Given the description of an element on the screen output the (x, y) to click on. 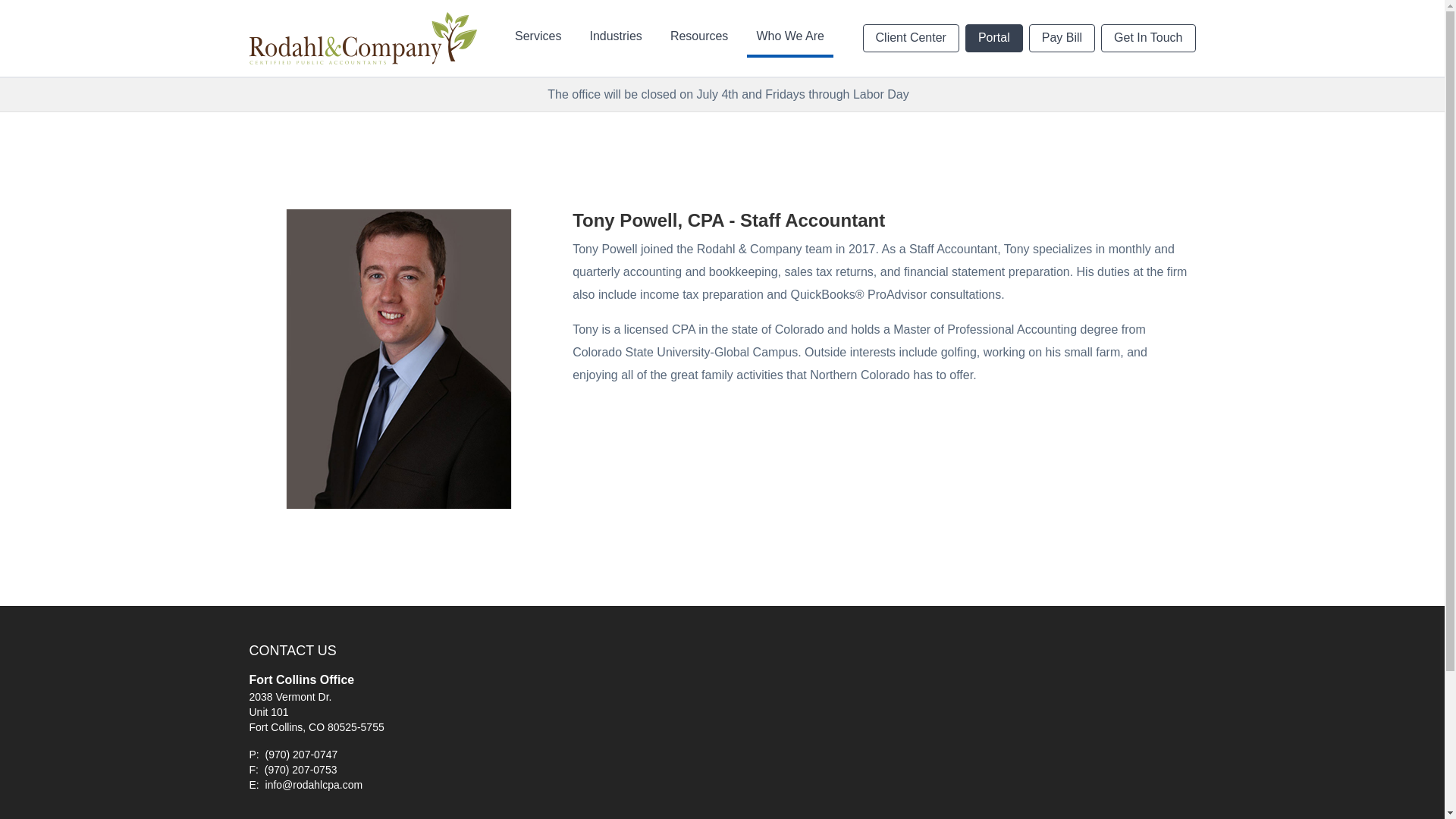
Services (537, 37)
Industries (614, 37)
